Given the description of an element on the screen output the (x, y) to click on. 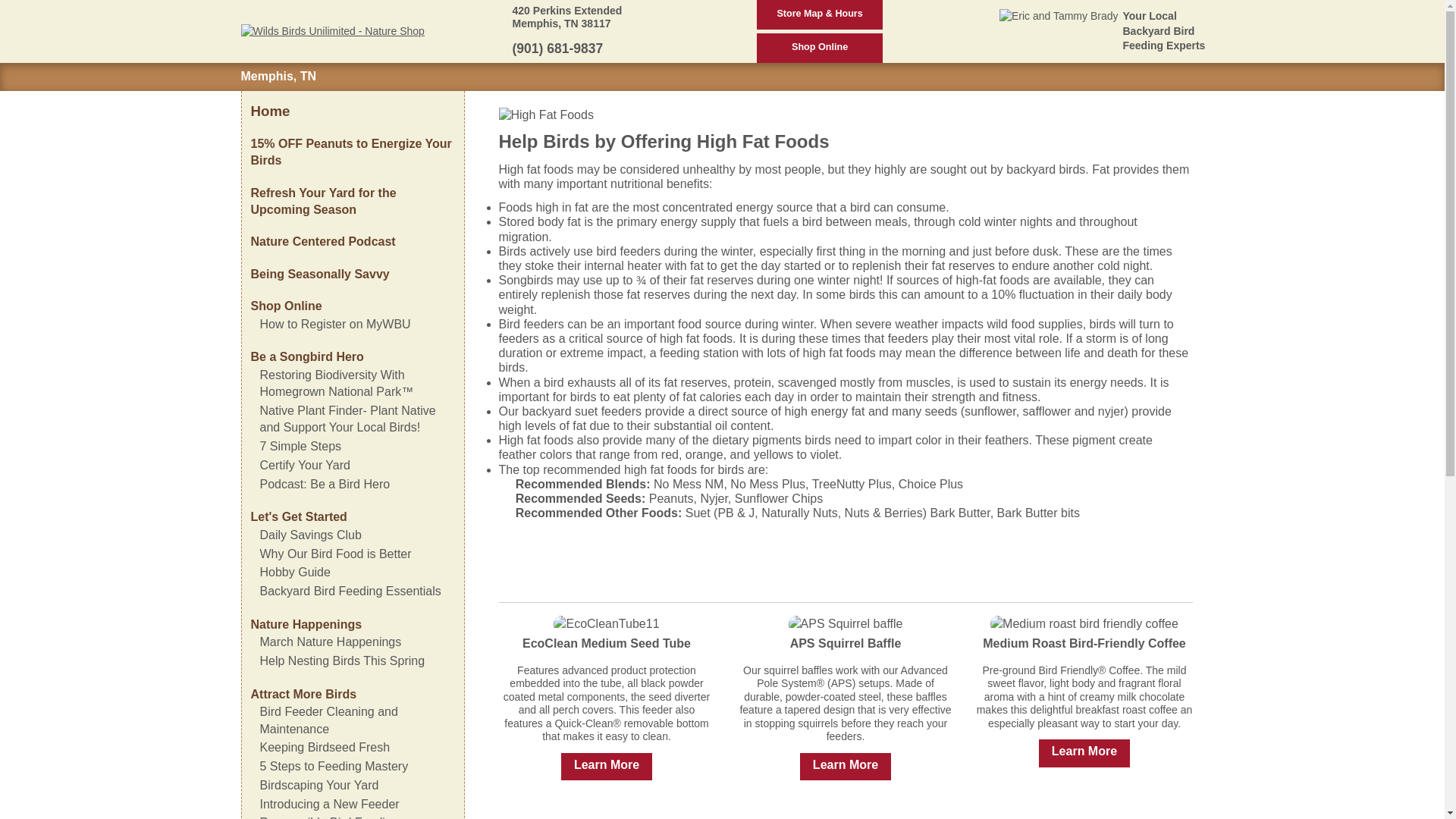
Refresh Your Yard for the Upcoming Season (323, 201)
Home (269, 110)
Why Our Bird Food is Better (334, 553)
Responsible Bird Feeding (328, 817)
Backyard Bird Feeding Essentials (350, 590)
Shop Online (285, 305)
Shop Online (819, 48)
Being Seasonally Savvy (319, 273)
Hobby Guide (294, 571)
Help Nesting Birds This Spring (342, 660)
